Given the description of an element on the screen output the (x, y) to click on. 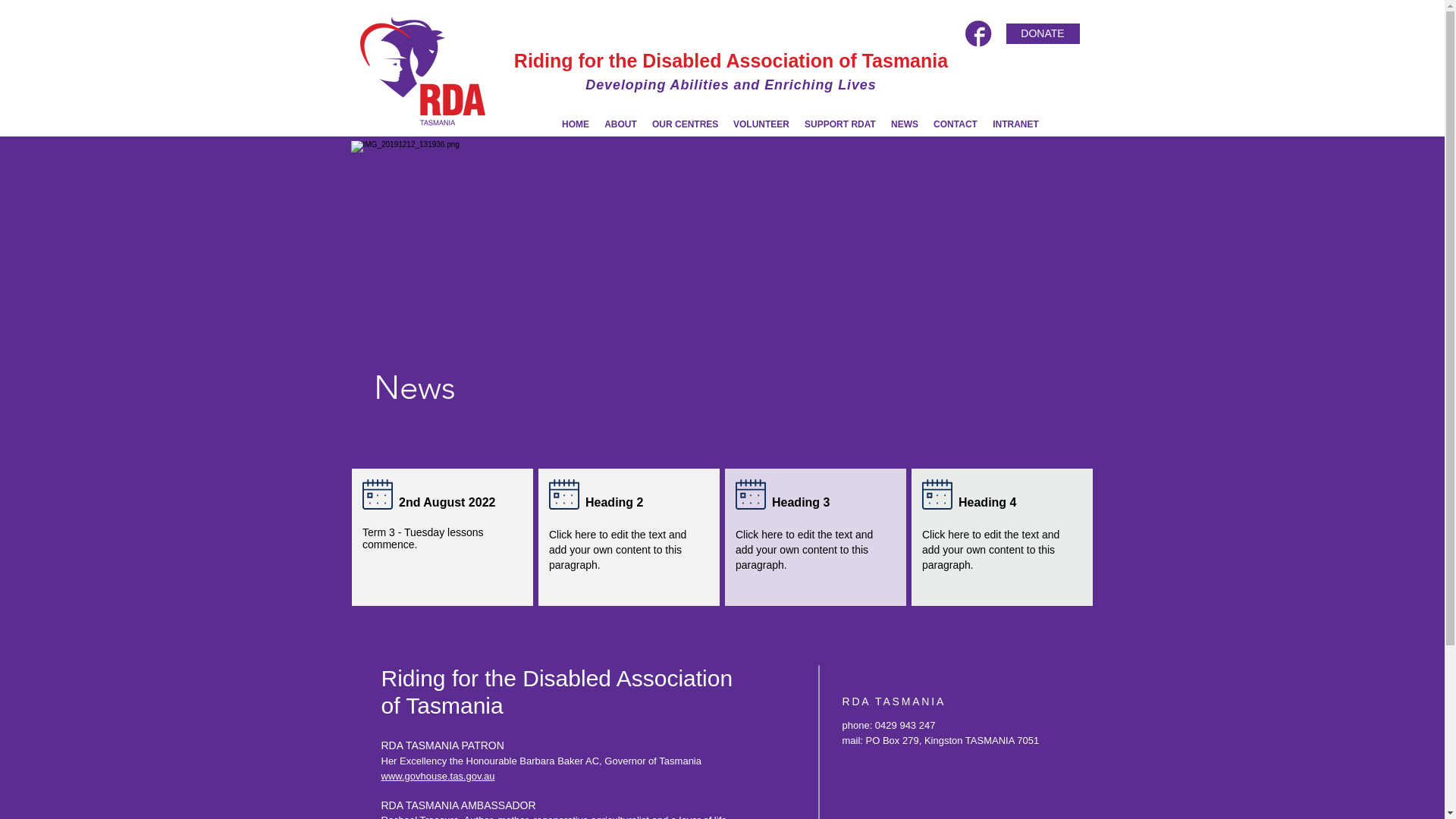
www.govhouse.tas.gov.au Element type: text (437, 775)
ABOUT Element type: text (620, 124)
DONATE Element type: text (1042, 33)
INTRANET Element type: text (1015, 124)
NEWS Element type: text (904, 124)
CONTACT Element type: text (955, 124)
HOME Element type: text (575, 124)
VOLUNTEER Element type: text (761, 124)
OUR CENTRES Element type: text (684, 124)
SUPPORT RDAT Element type: text (840, 124)
